Given the description of an element on the screen output the (x, y) to click on. 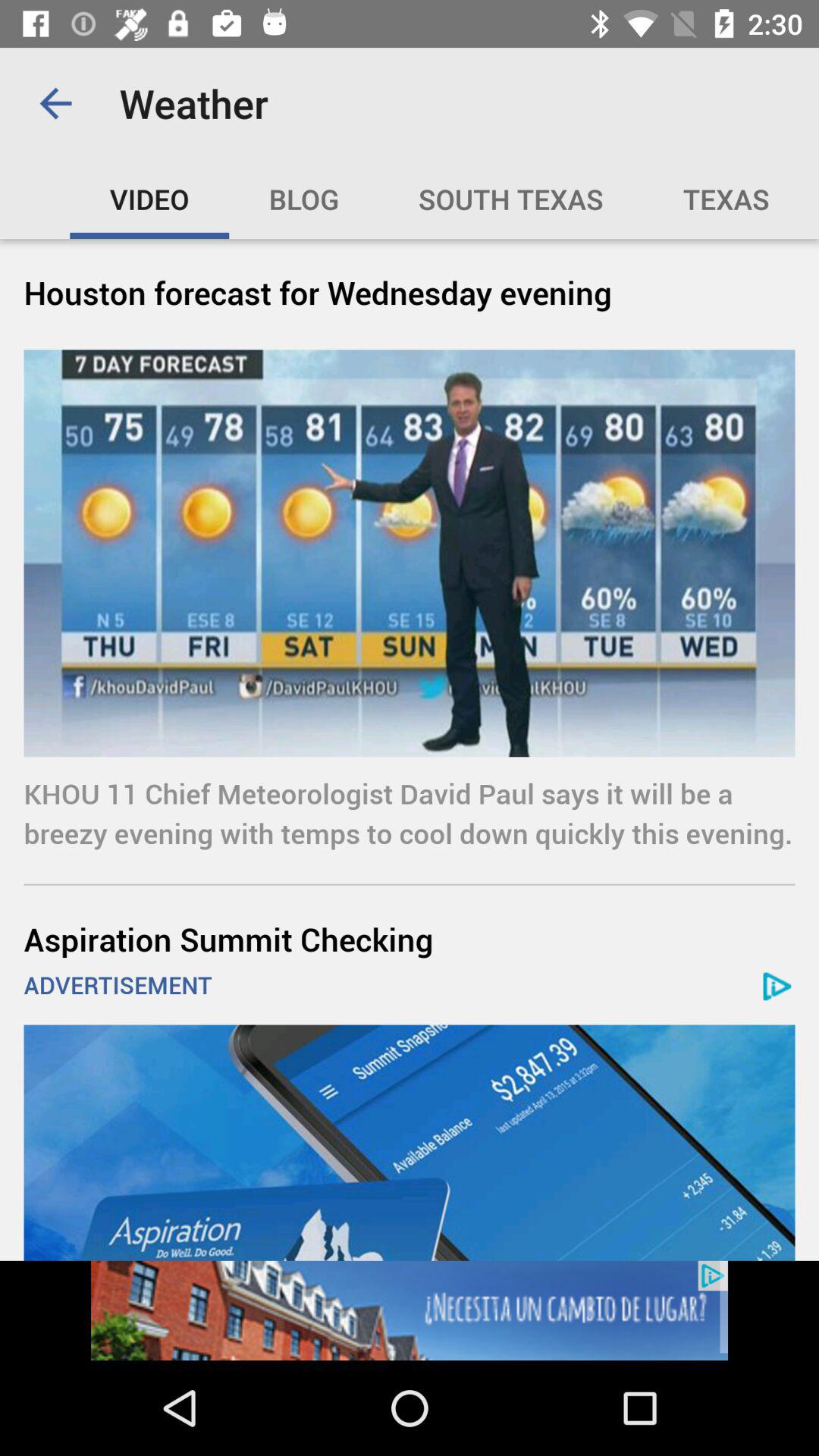
click discription (409, 1310)
